Given the description of an element on the screen output the (x, y) to click on. 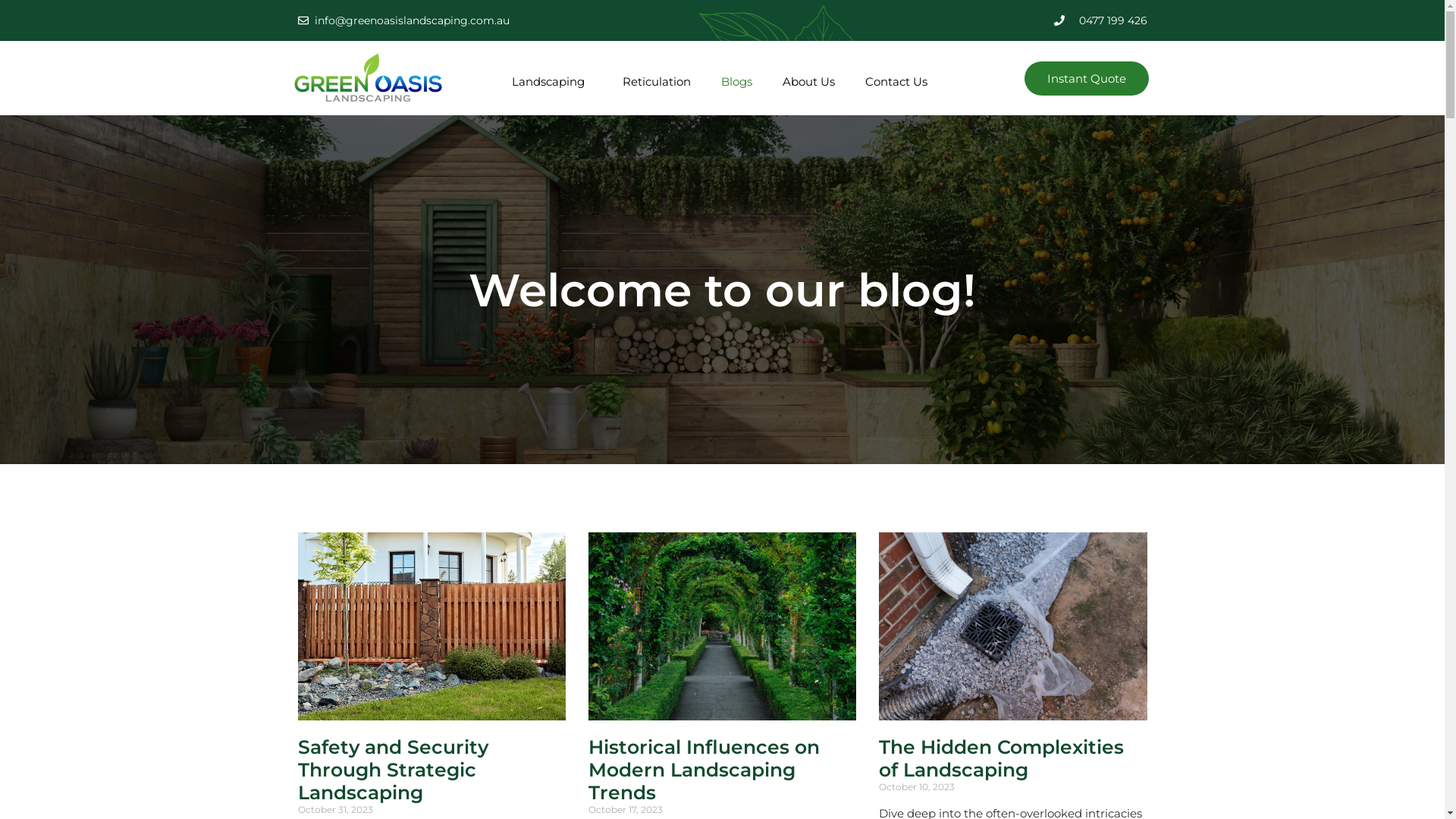
About Us Element type: text (808, 81)
Landscaping Element type: text (551, 81)
0477 199 426 Element type: text (937, 20)
Contact Us Element type: text (896, 81)
Blogs Element type: text (736, 81)
Instant Quote Element type: text (1086, 78)
Safety and Security Through Strategic Landscaping Element type: text (392, 769)
The Hidden Complexities of Landscaping Element type: text (1000, 758)
Historical Influences on Modern Landscaping Trends Element type: text (703, 769)
info@greenoasislandscaping.com.au Element type: text (505, 20)
Reticulation Element type: text (656, 81)
